Given the description of an element on the screen output the (x, y) to click on. 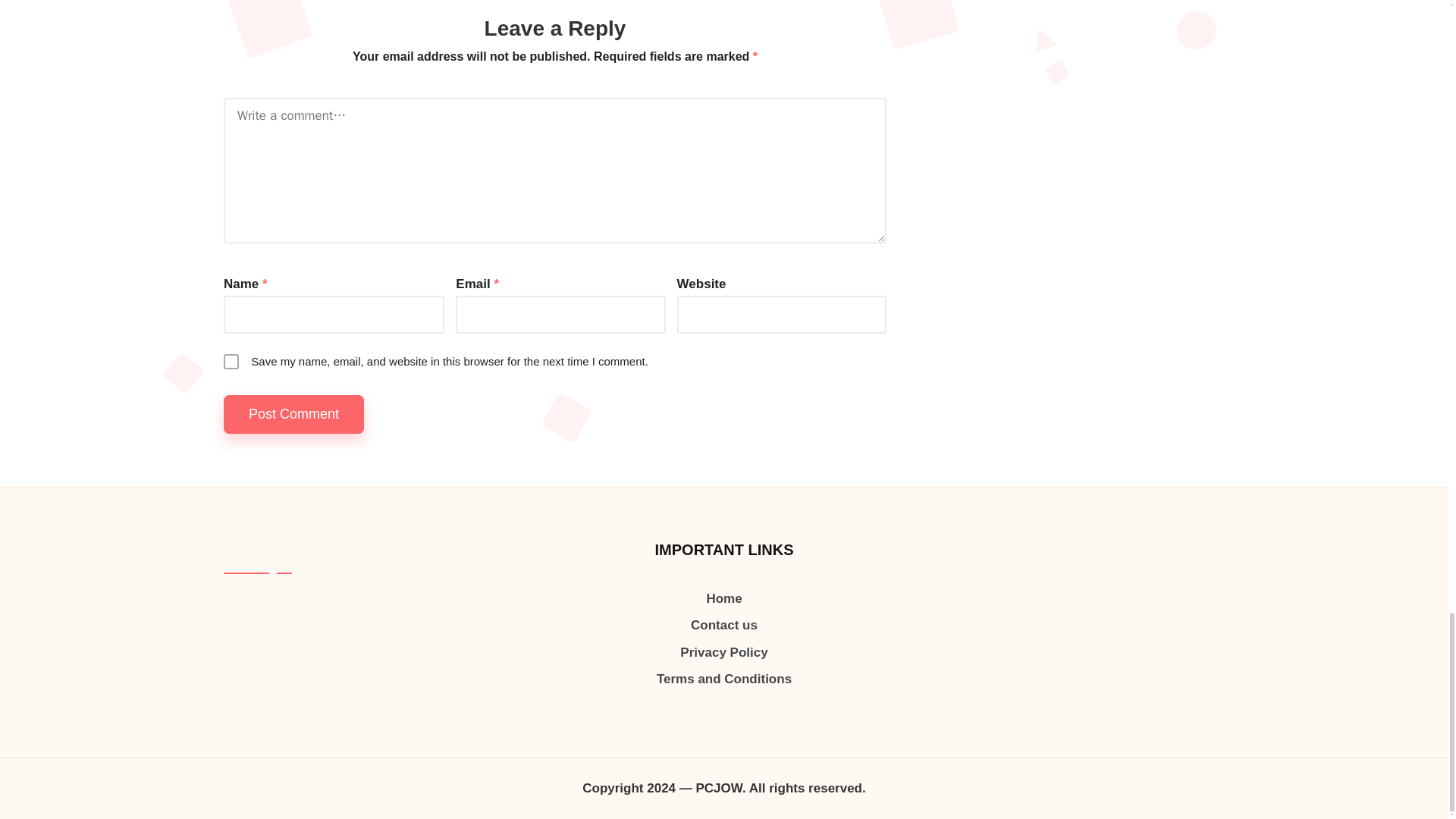
Terms and Conditions (724, 678)
yes (231, 361)
Contact us (723, 625)
Privacy Policy (723, 652)
Post Comment (294, 414)
Post Comment (294, 414)
Home (723, 598)
